Given the description of an element on the screen output the (x, y) to click on. 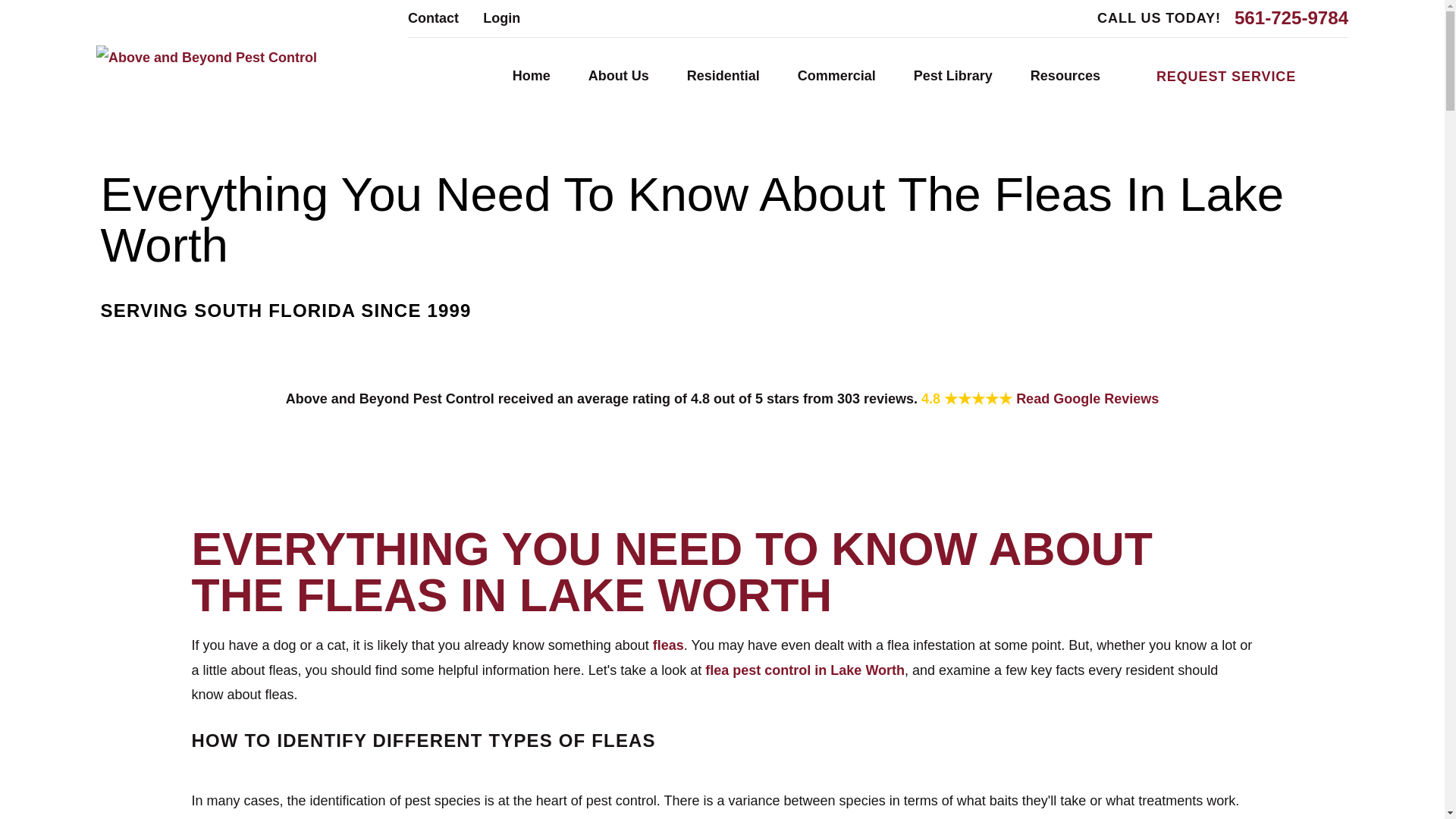
Above and Beyond Pest Control (206, 57)
561-725-9784 (1291, 18)
Pest Library (953, 76)
Residential (723, 76)
Home (206, 57)
Contact (432, 17)
Commercial (836, 76)
About Us (618, 76)
Resources (1065, 76)
Login (501, 17)
